Given the description of an element on the screen output the (x, y) to click on. 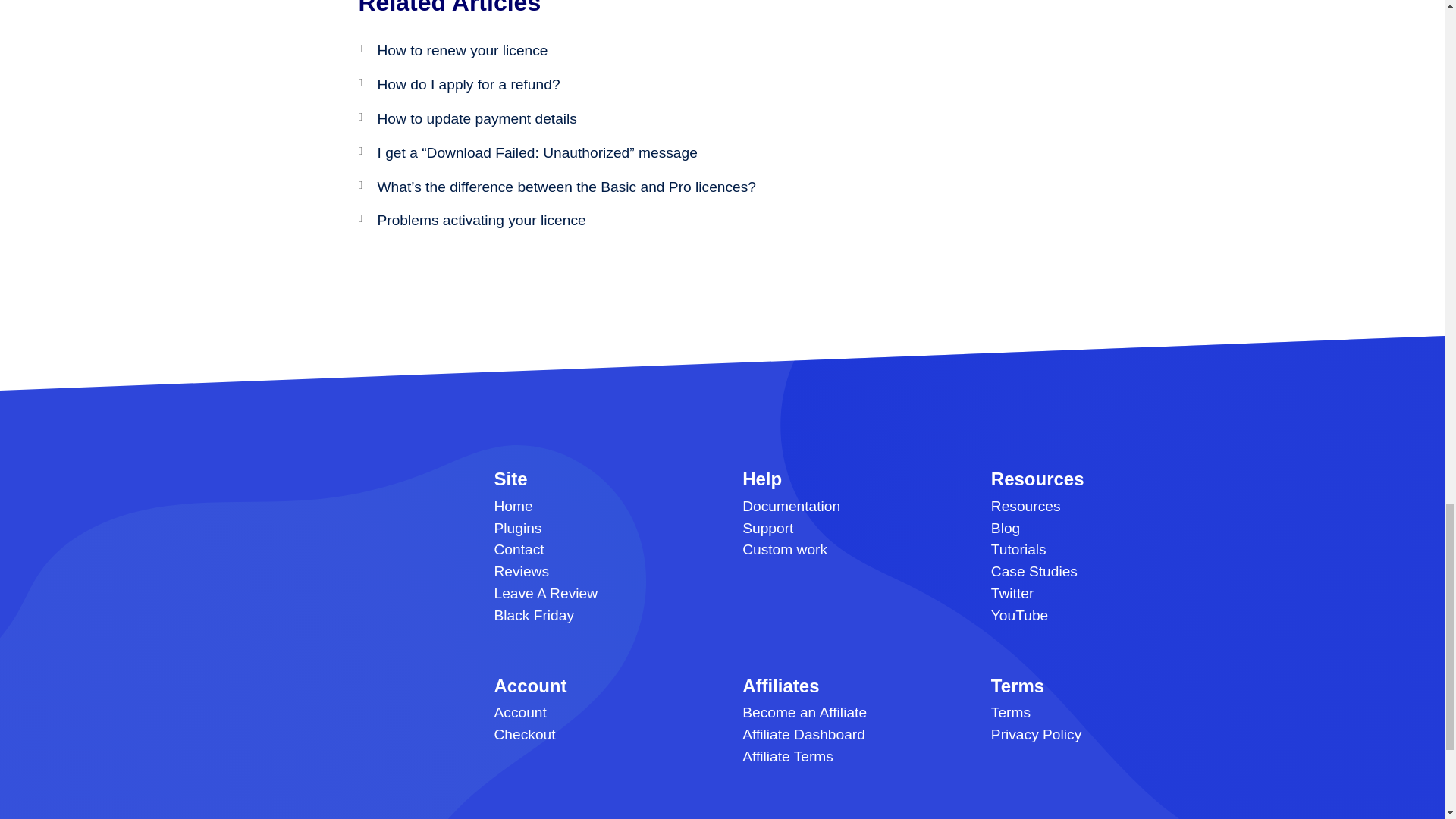
Problems activating your licence (481, 220)
Home (513, 505)
How to update payment details (476, 118)
How to renew your licence (462, 50)
How do I apply for a refund? (468, 84)
